Given the description of an element on the screen output the (x, y) to click on. 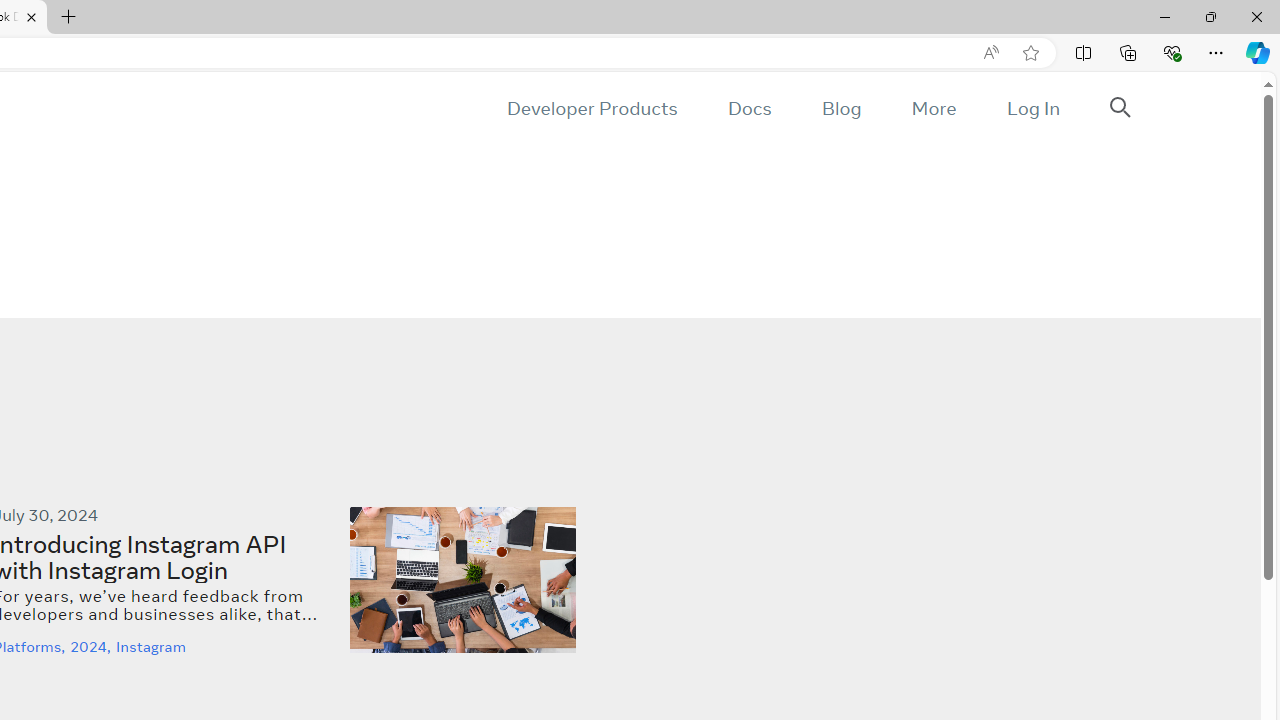
Developer Products (591, 108)
Instagram (153, 646)
Docs (749, 108)
